Given the description of an element on the screen output the (x, y) to click on. 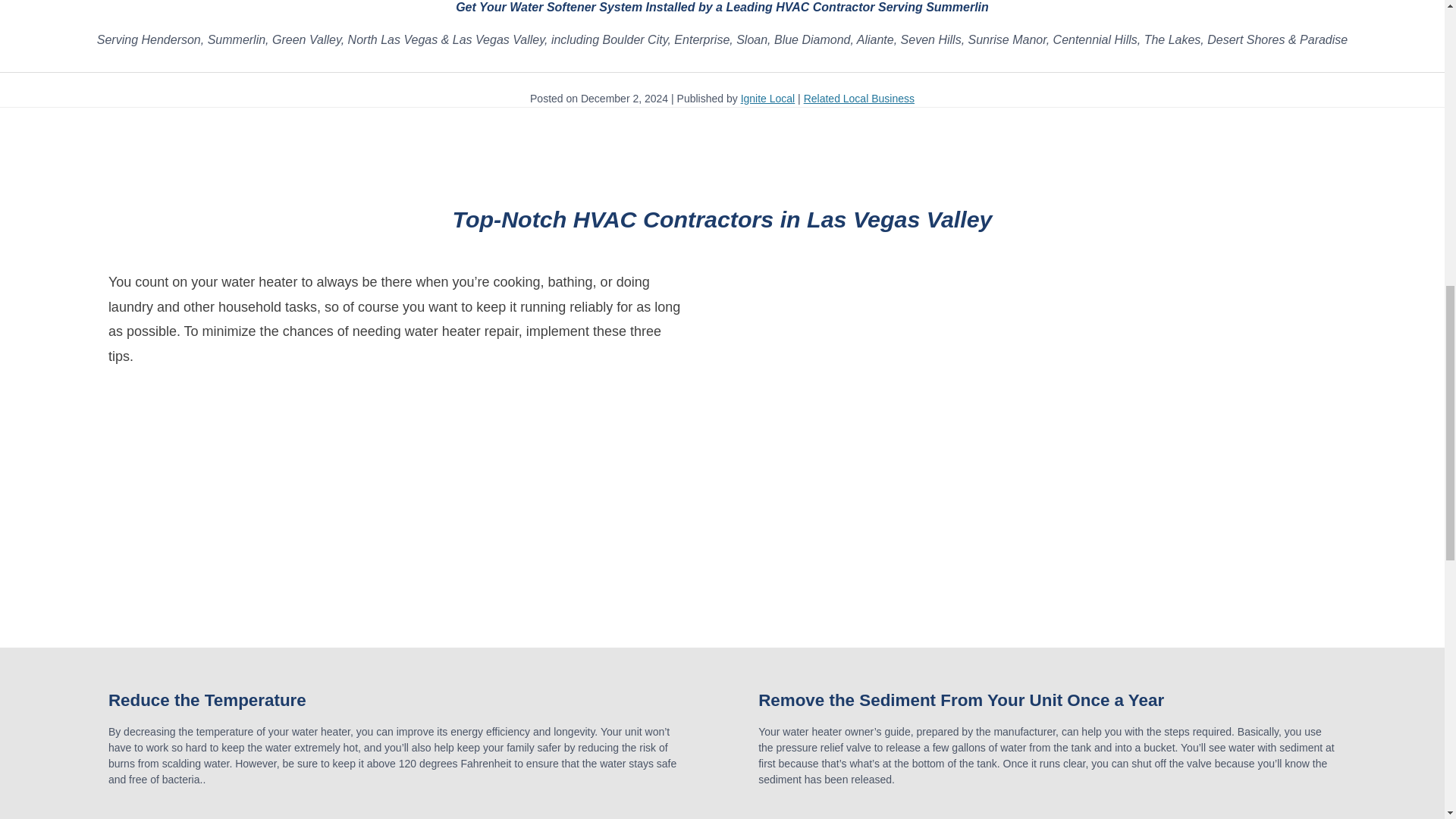
Related Local Business (858, 98)
Ignite Local (767, 98)
